Given the description of an element on the screen output the (x, y) to click on. 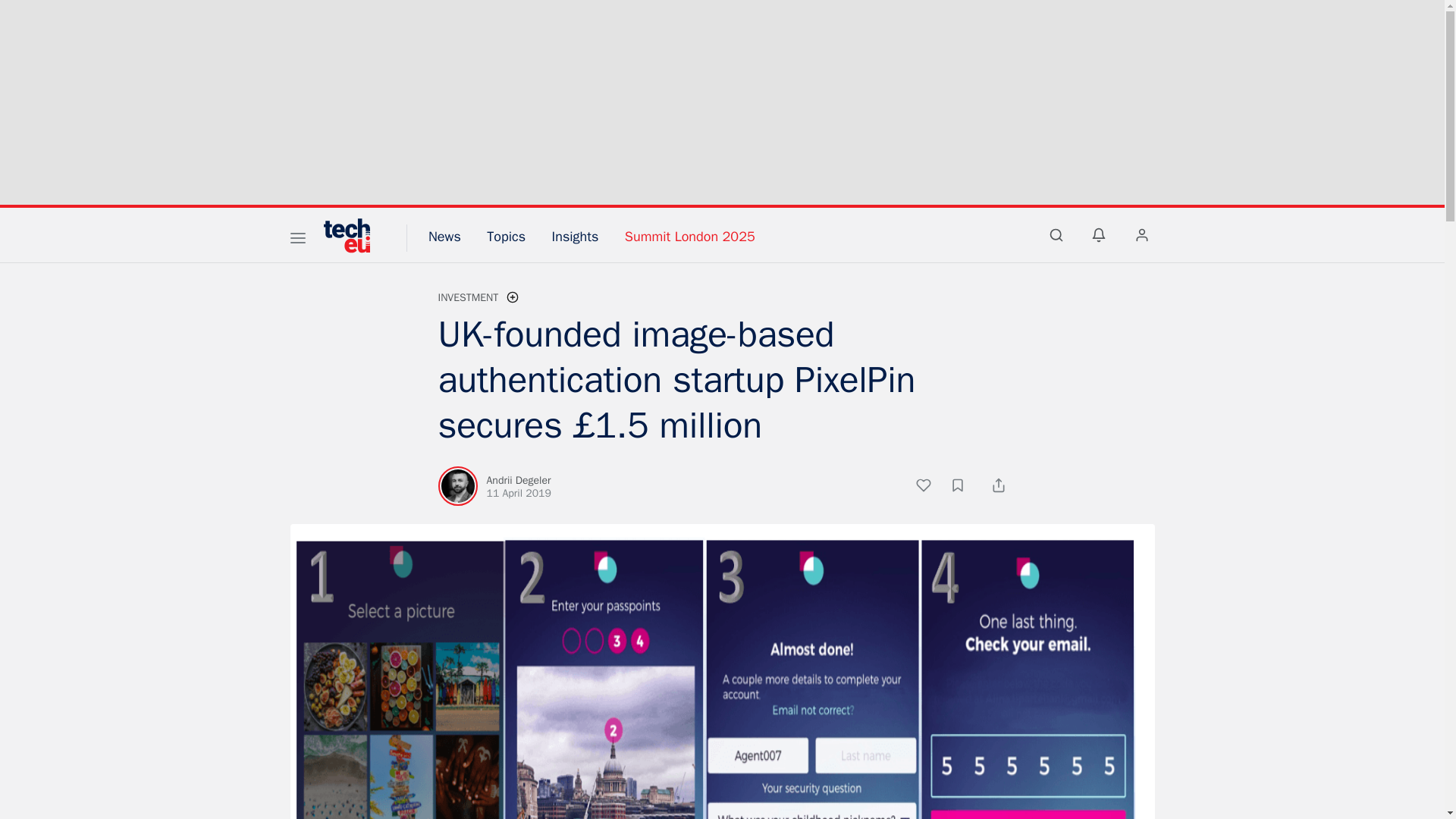
Topics (505, 236)
Like (930, 487)
Summit London 2025 (689, 236)
Investment (468, 297)
News (444, 236)
Insights (574, 236)
Add to Collection (964, 487)
